Given the description of an element on the screen output the (x, y) to click on. 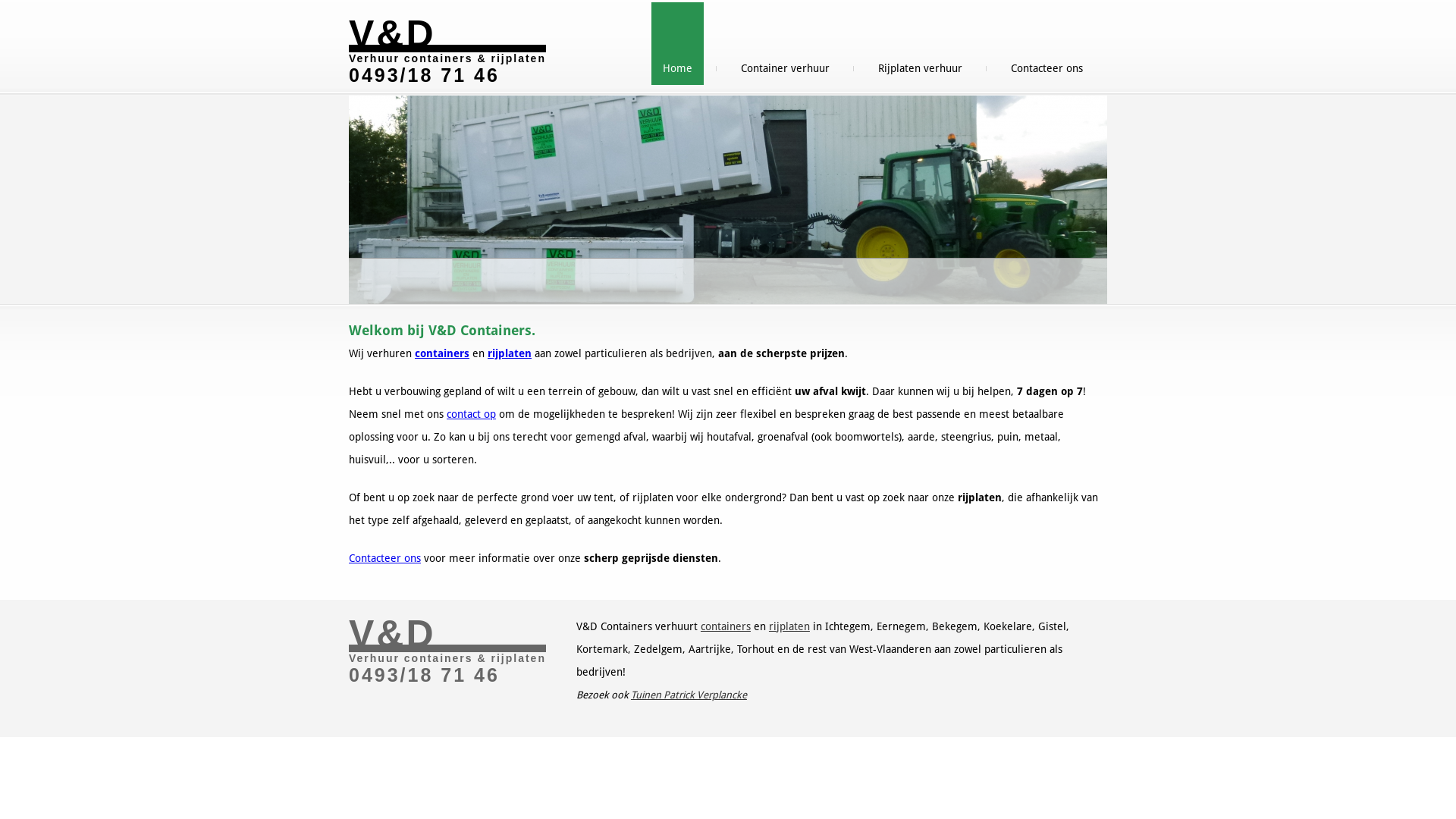
Overslaan en naar de inhoud gaan Element type: text (81, 0)
Tuinen Patrick Verplancke Element type: text (688, 694)
containers Element type: text (441, 353)
containers Element type: text (725, 626)
Contacteer ons Element type: text (384, 558)
Contacteer ons Element type: text (1046, 43)
rijplaten Element type: text (509, 353)
rijplaten Element type: text (788, 626)
Container verhuur Element type: text (784, 43)
Home Element type: text (677, 43)
contact op Element type: text (470, 413)
Rijplaten verhuur Element type: text (919, 43)
